Given the description of an element on the screen output the (x, y) to click on. 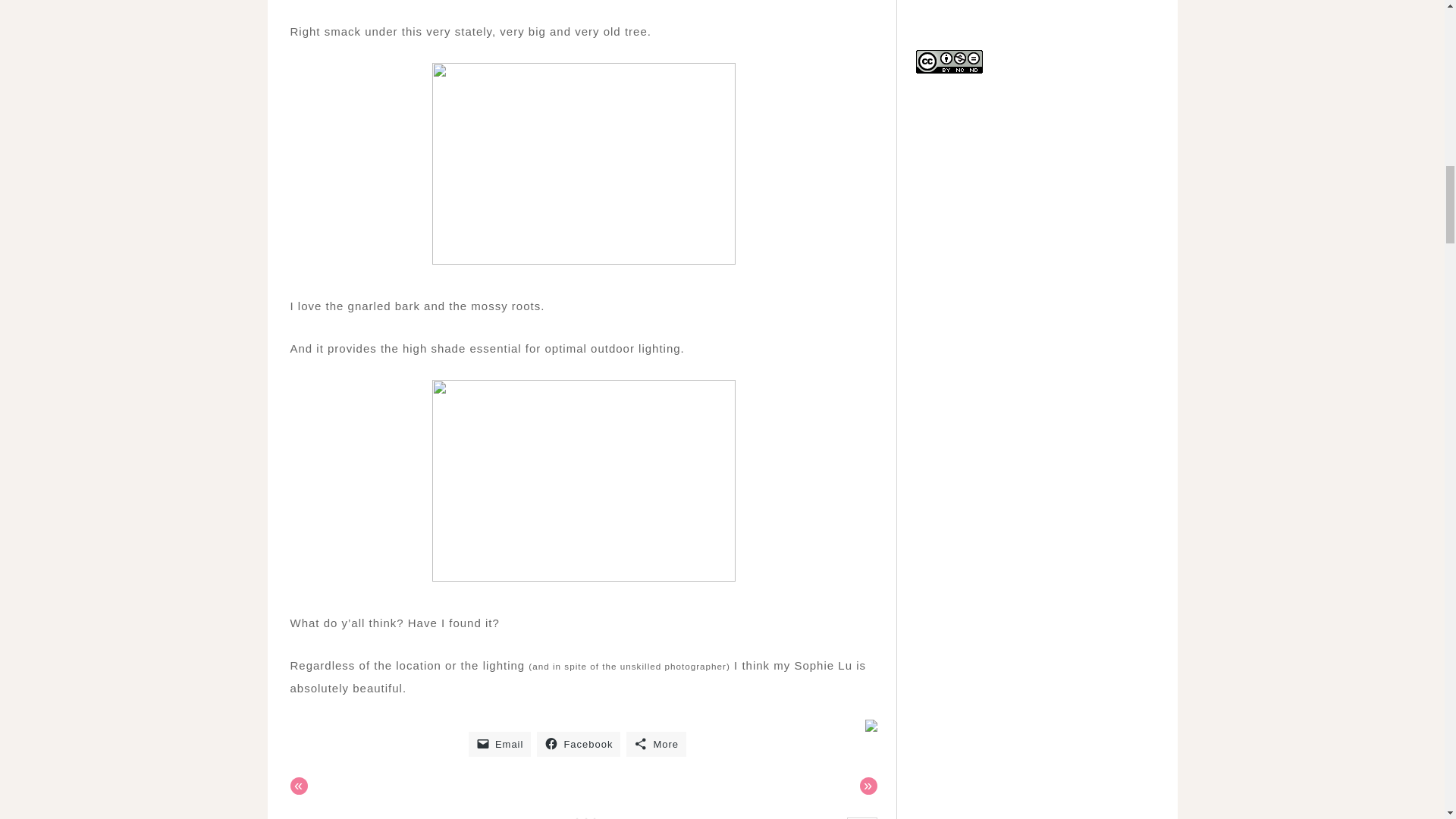
Click to email a link to a friend (499, 744)
Click to share on Facebook (578, 744)
Next Post: dinner conversation (868, 785)
Previous Post: ouch. (298, 785)
